Given the description of an element on the screen output the (x, y) to click on. 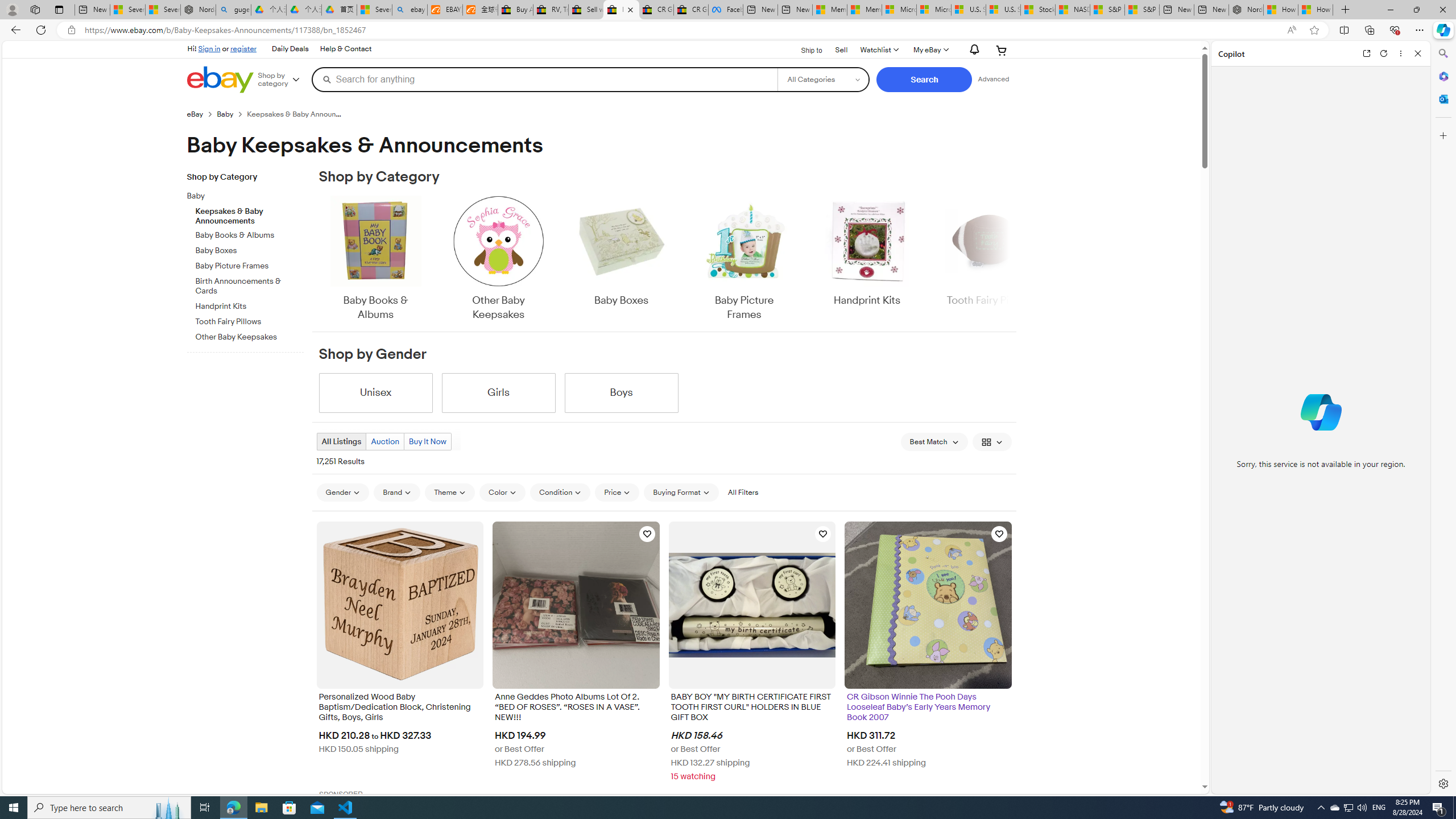
Help & Contact (345, 49)
Baby (240, 196)
Boys (621, 392)
Unisex (375, 392)
Sell (841, 49)
Gender (342, 492)
Buying Format (681, 492)
Theme (450, 492)
